Given the description of an element on the screen output the (x, y) to click on. 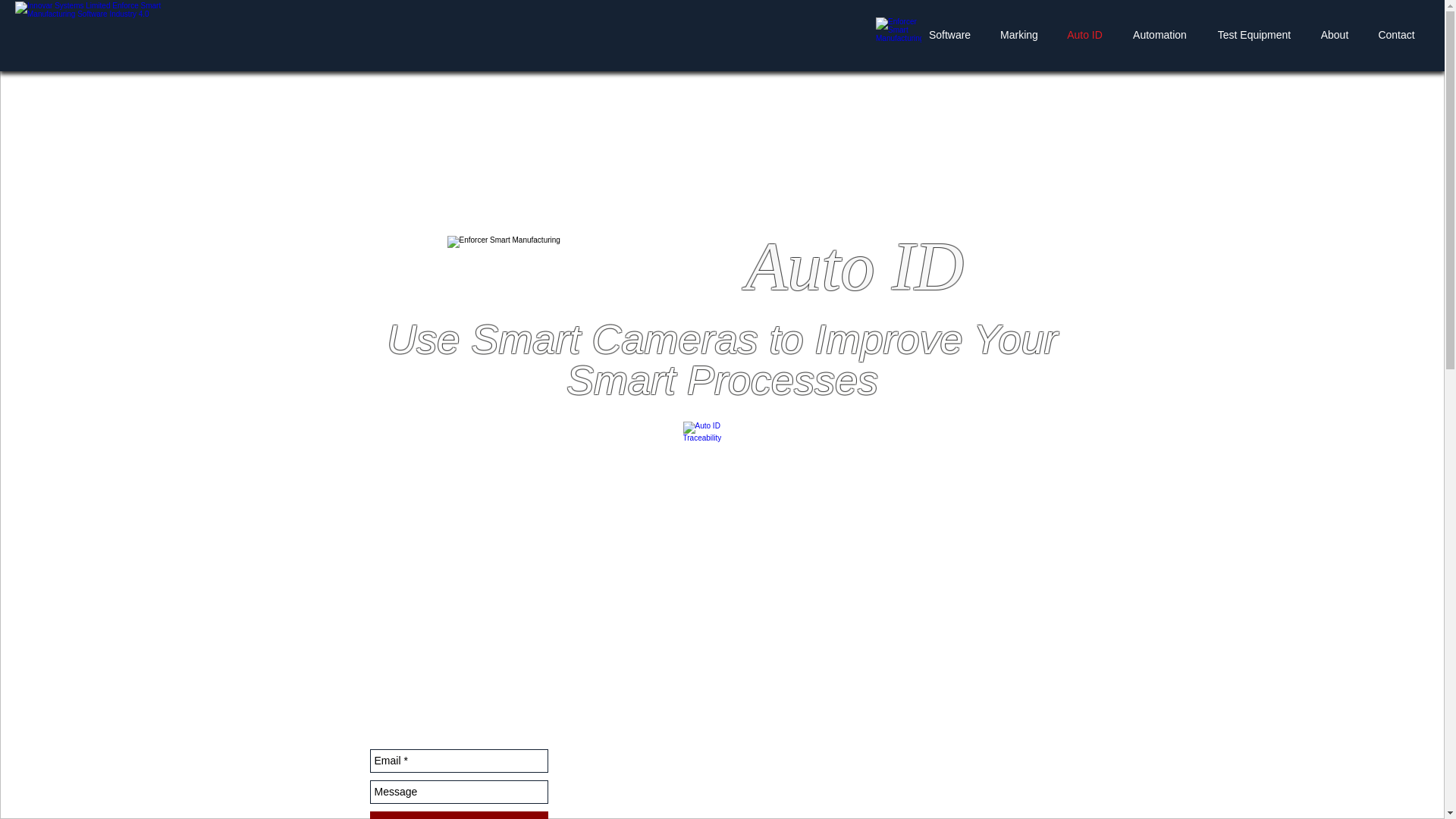
Auto ID (1084, 35)
Request a Quote (458, 815)
About (1334, 35)
Test Equipment (1254, 35)
Automation (1159, 35)
Software (949, 35)
Marking (1018, 35)
Contact (1395, 35)
